Given the description of an element on the screen output the (x, y) to click on. 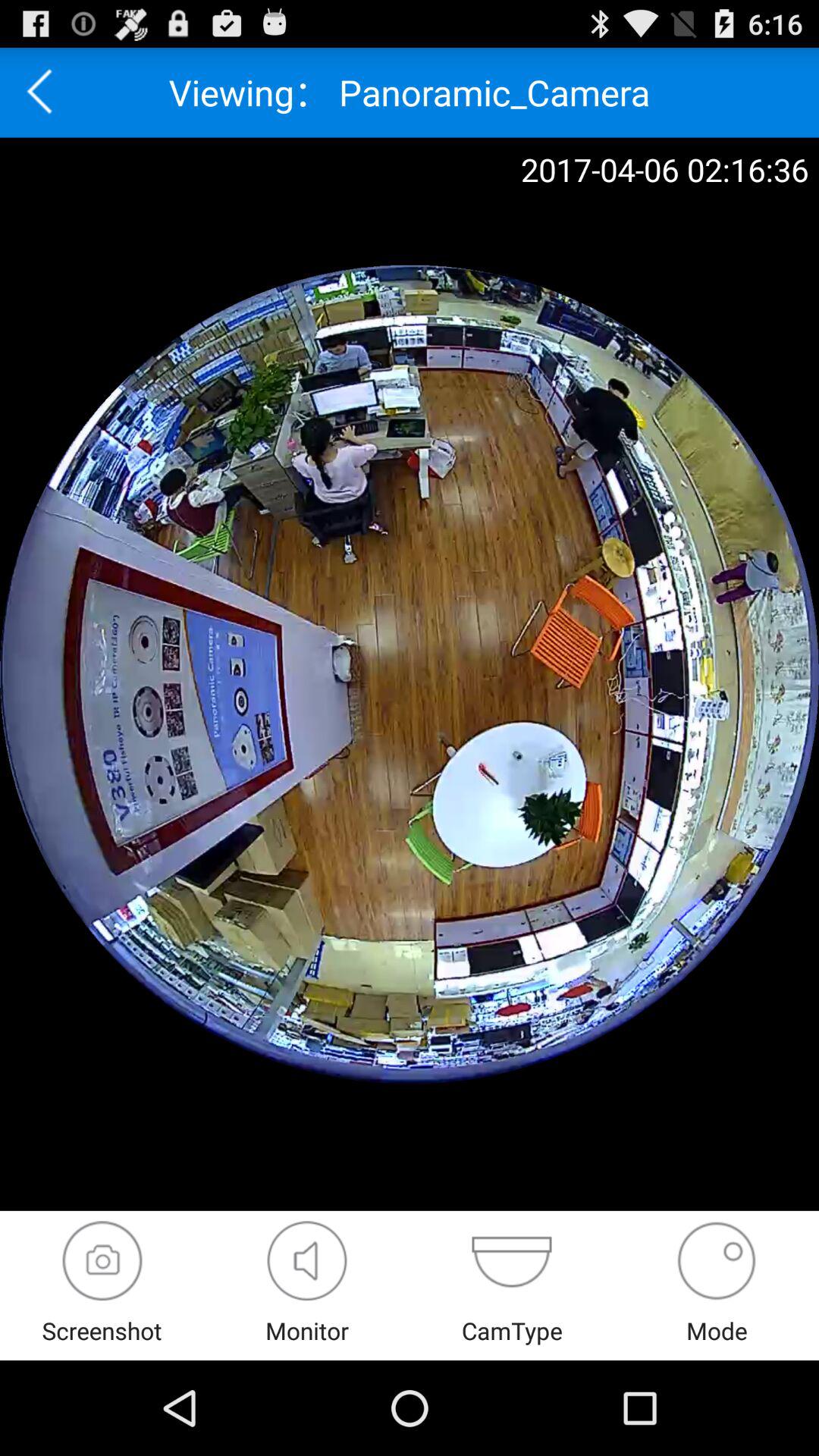
show the full view (306, 1260)
